Given the description of an element on the screen output the (x, y) to click on. 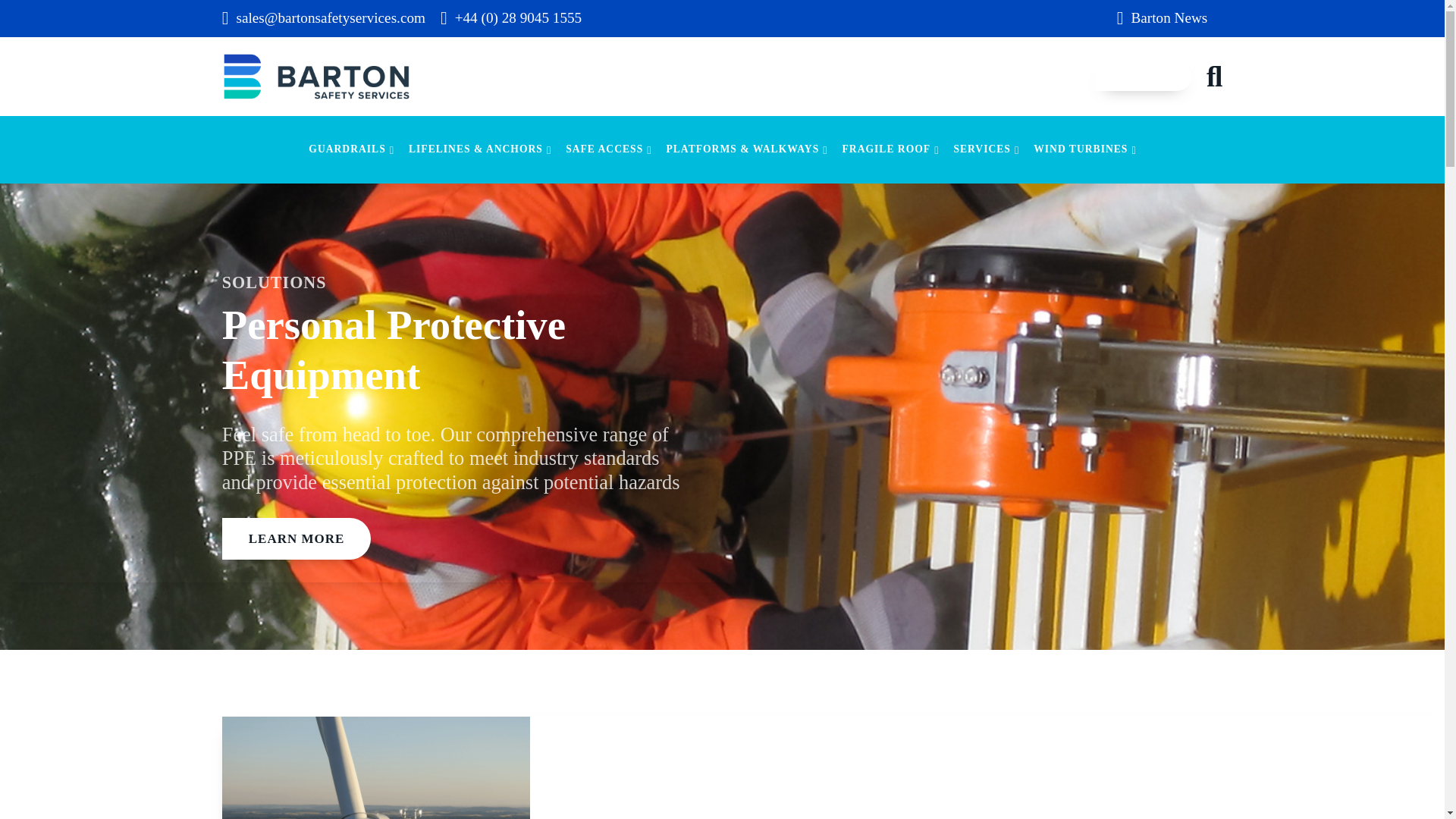
CONTACT US (1142, 76)
Barton News (1161, 18)
